Given the description of an element on the screen output the (x, y) to click on. 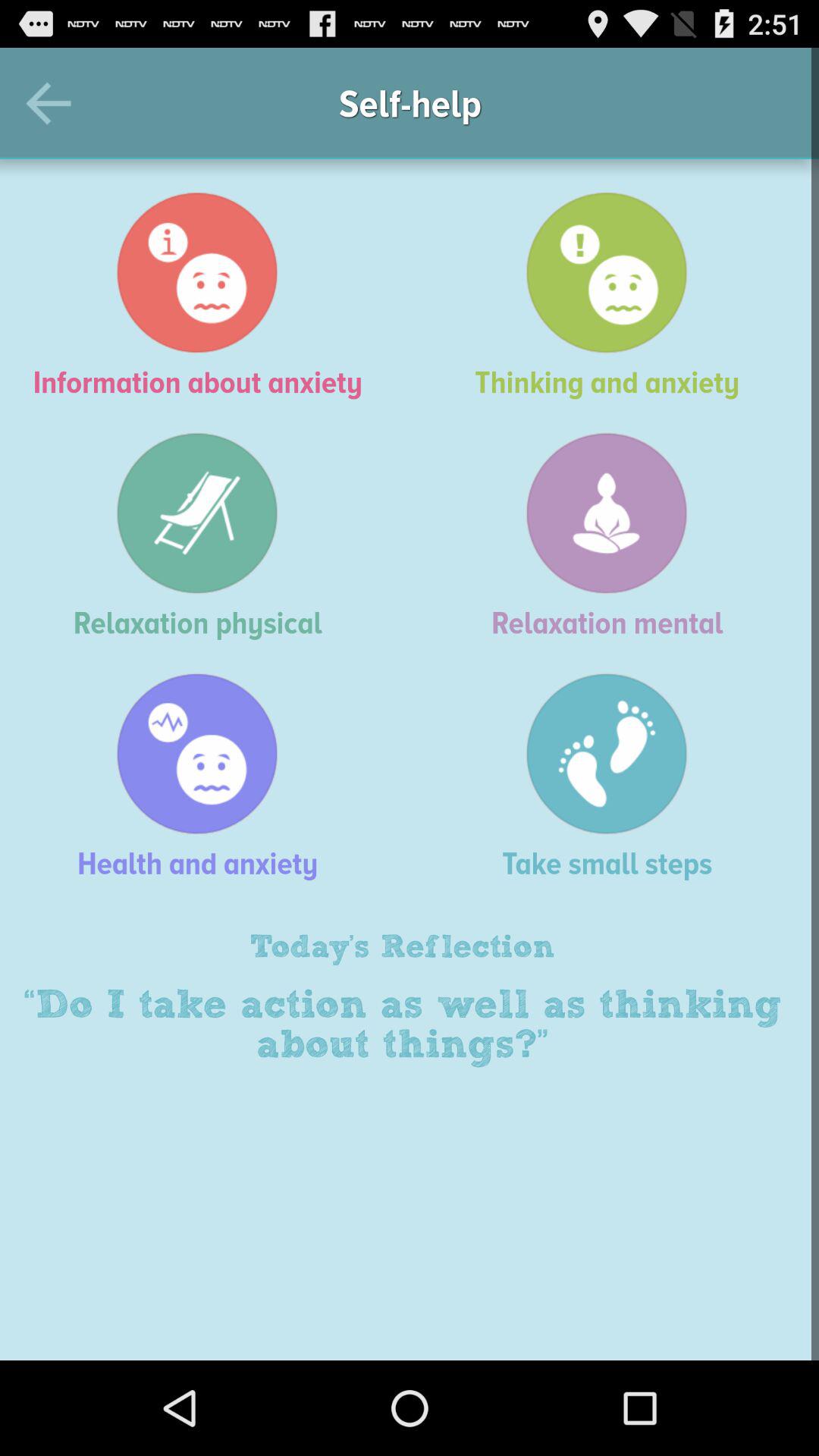
open the item to the left of the  self-help  item (55, 103)
